Given the description of an element on the screen output the (x, y) to click on. 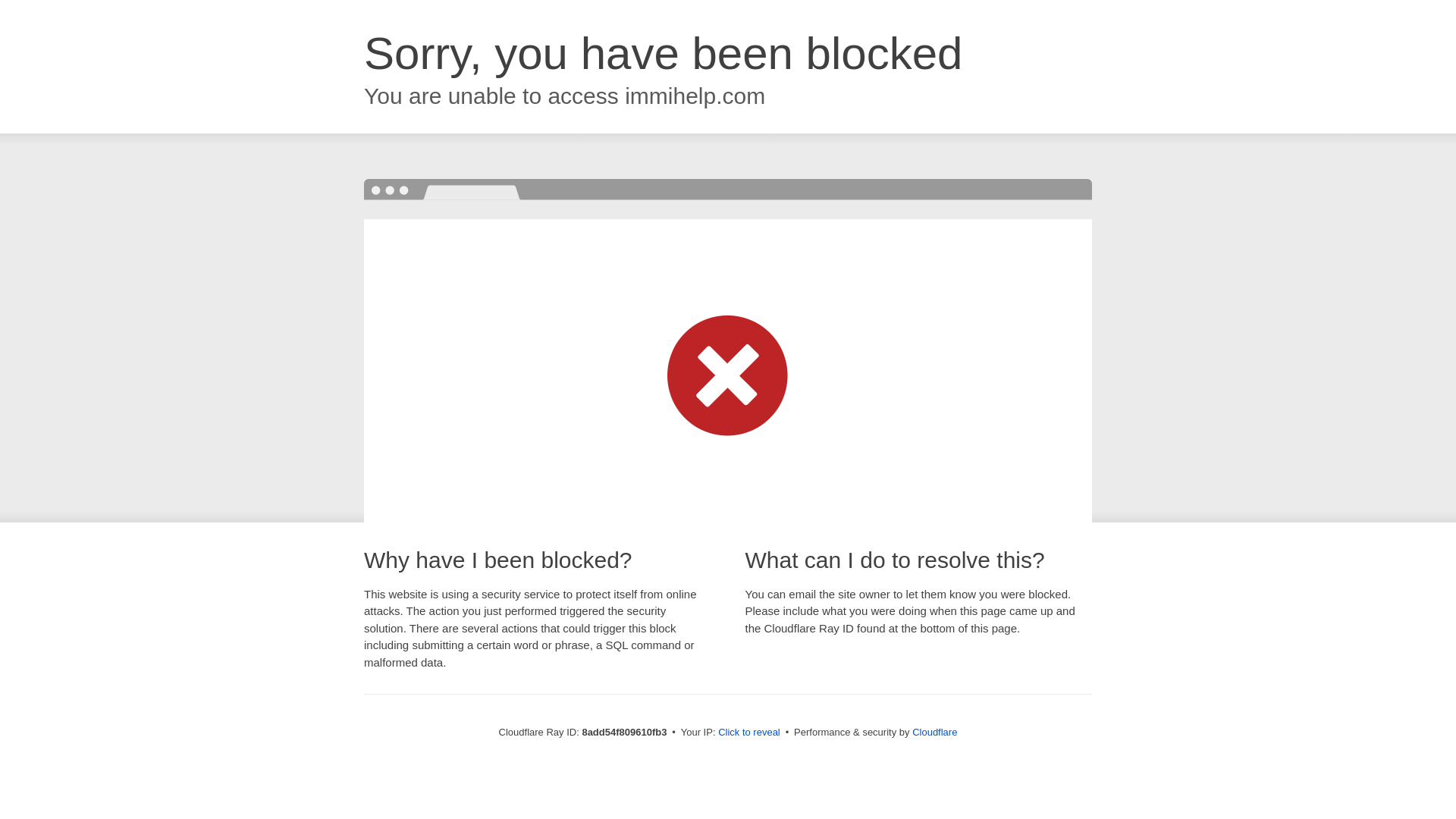
Cloudflare (934, 731)
Click to reveal (748, 732)
